Given the description of an element on the screen output the (x, y) to click on. 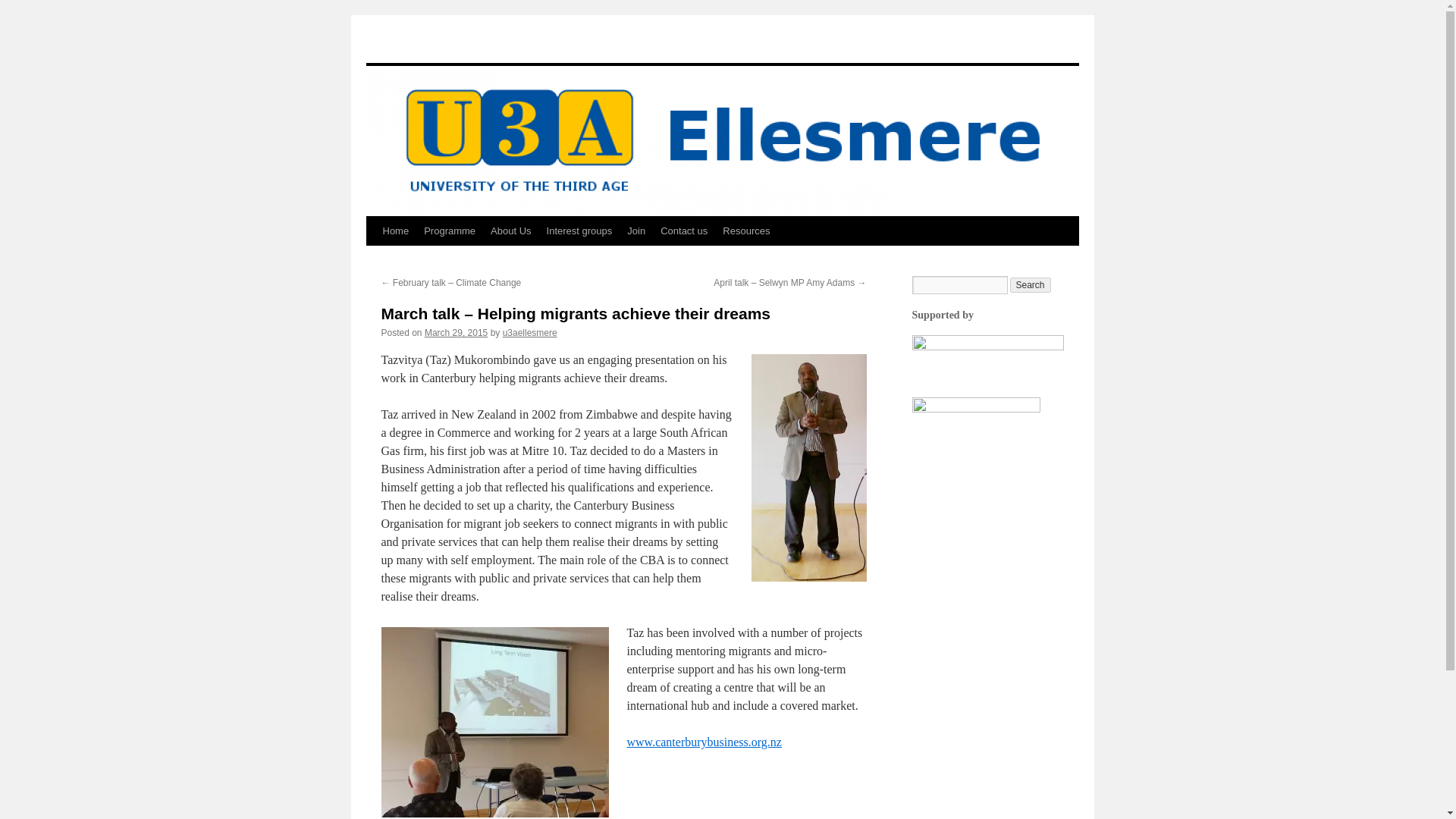
www.canterburybusiness.org.nz (703, 741)
Contact us (683, 231)
Home (395, 231)
View all posts by u3aellesmere (529, 332)
March 29, 2015 (456, 332)
Interest groups (579, 231)
Resources (745, 231)
5:00 am (456, 332)
Search (1030, 284)
Programme (449, 231)
